Given the description of an element on the screen output the (x, y) to click on. 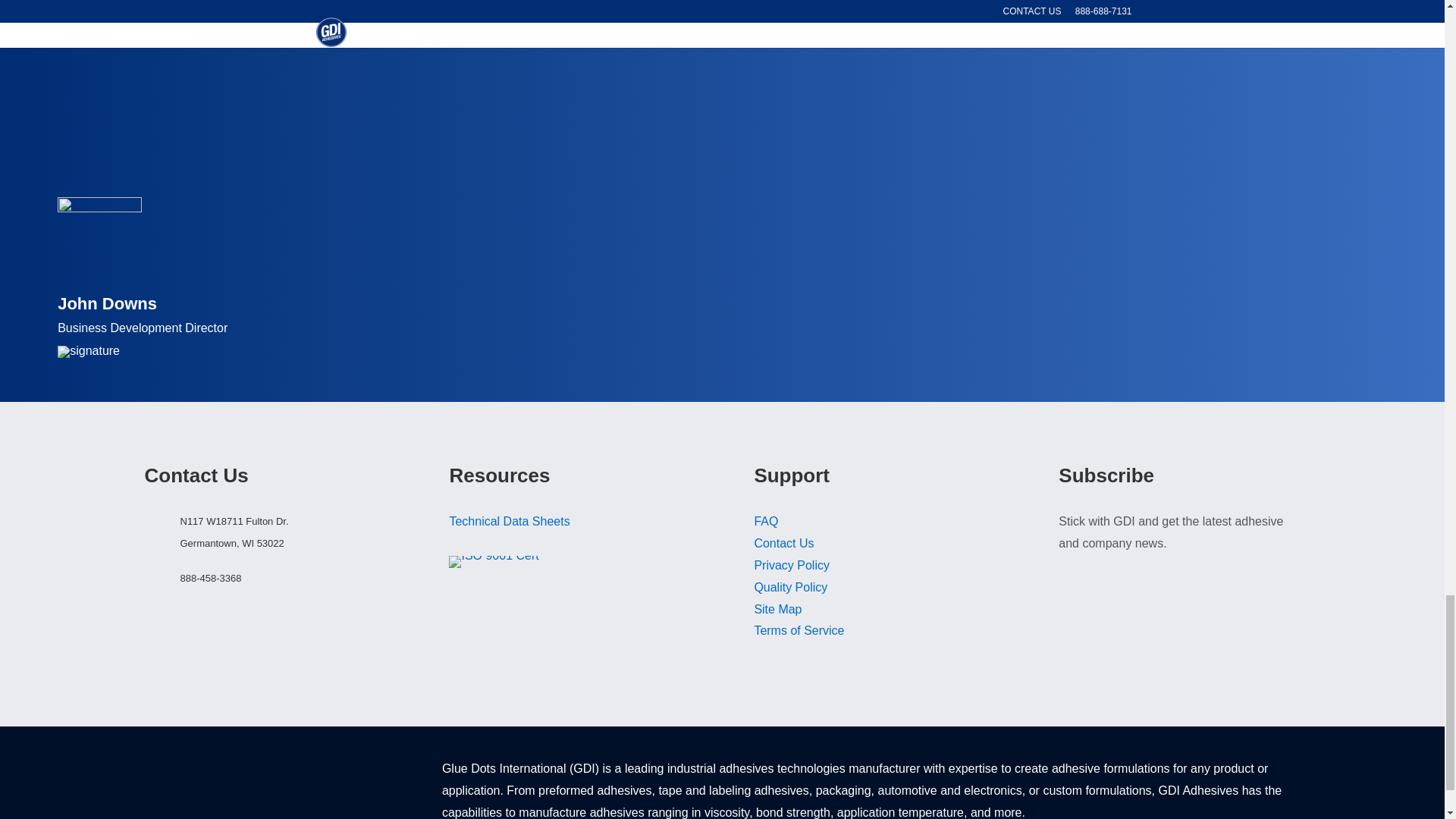
FAQ (765, 521)
Site Map (778, 608)
Quality Policy (790, 586)
Technical Data Sheets (508, 521)
Privacy Policy (791, 564)
Terms of Service (799, 630)
Contact Us (783, 543)
